Given the description of an element on the screen output the (x, y) to click on. 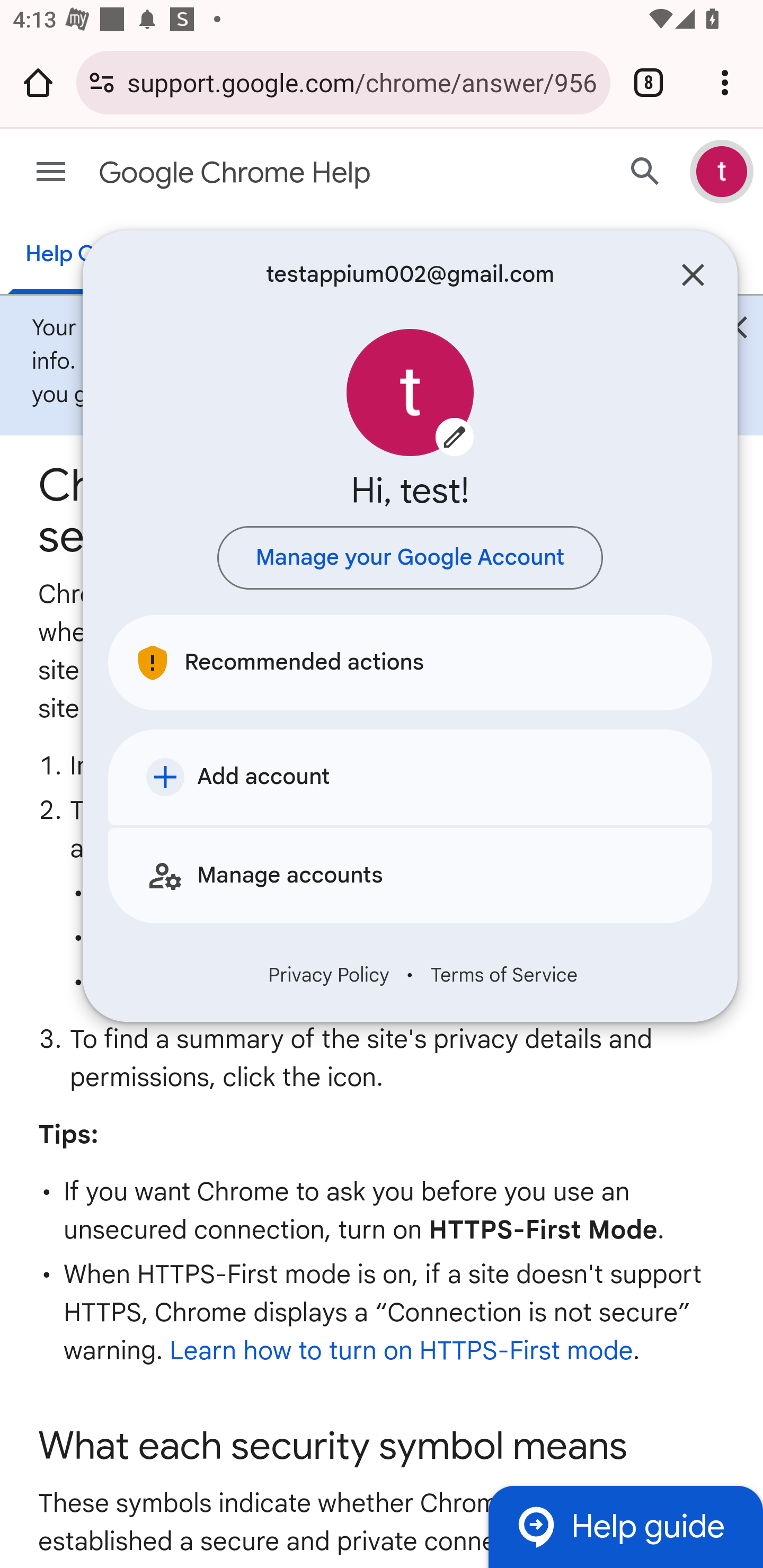
Open the home page (38, 82)
Connection is secure (101, 82)
Switch or close tabs (648, 82)
Customize and control Google Chrome (724, 82)
Main menu (50, 171)
Google Chrome Help (311, 173)
Search Help Center (645, 171)
Close menu (692, 275)
Change profile picture (409, 392)
Add account (opens a new tab) Add account (409, 776)
Manage accounts (409, 875)
Privacy Policy (opens a new tab) Privacy Policy (328, 975)
Learn how to turn on HTTPS-First mode (401, 1350)
Help guide (625, 1527)
